Given the description of an element on the screen output the (x, y) to click on. 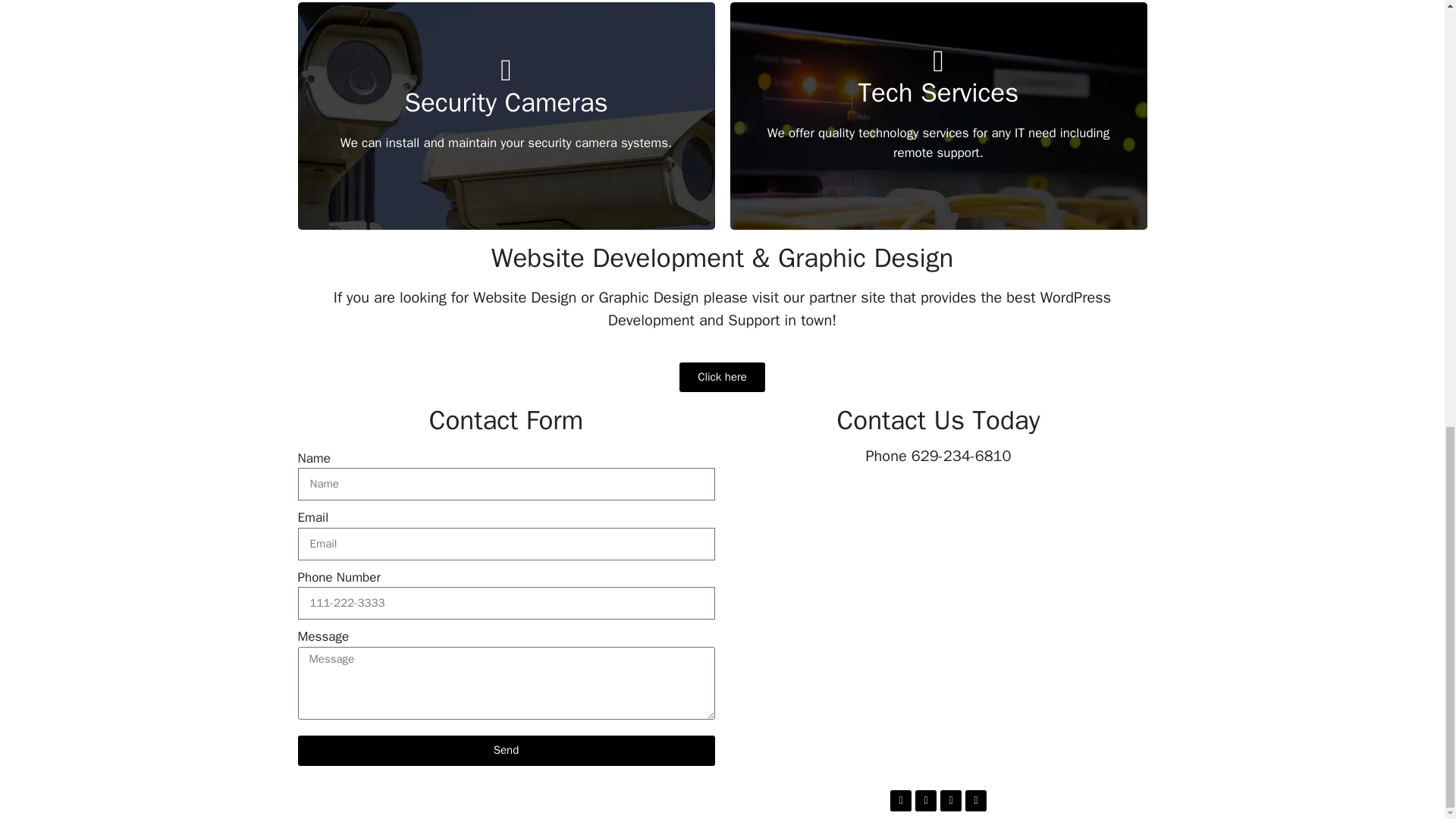
Hendersonville, TN  (938, 625)
Get Started (938, 181)
Get Started (505, 181)
Click here (722, 376)
Send (505, 749)
